Given the description of an element on the screen output the (x, y) to click on. 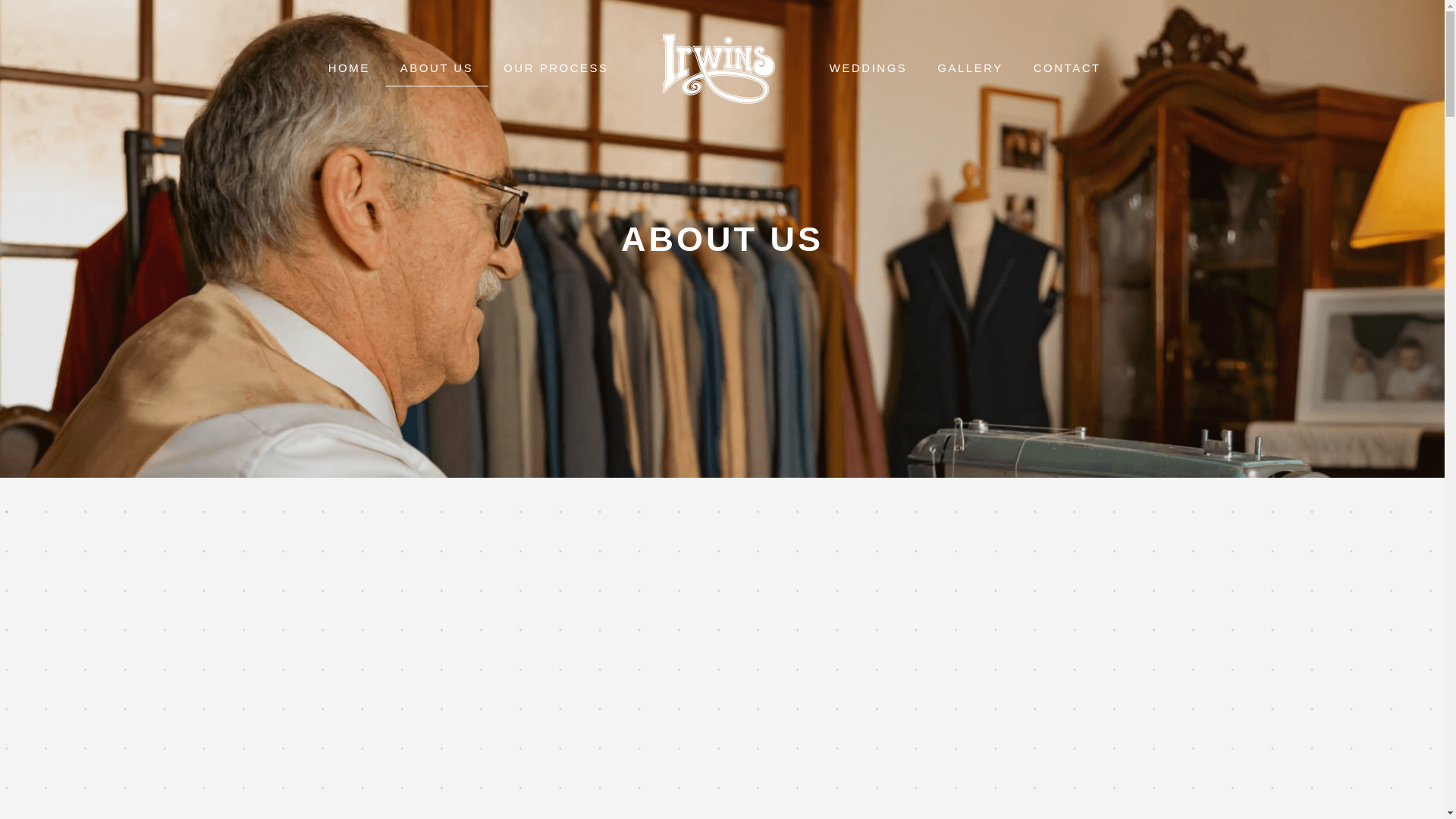
OUR PROCESS (555, 67)
WEDDINGS (868, 67)
GALLERY (969, 67)
ABOUT US (436, 67)
HOME (349, 67)
CONTACT (1066, 67)
